Given the description of an element on the screen output the (x, y) to click on. 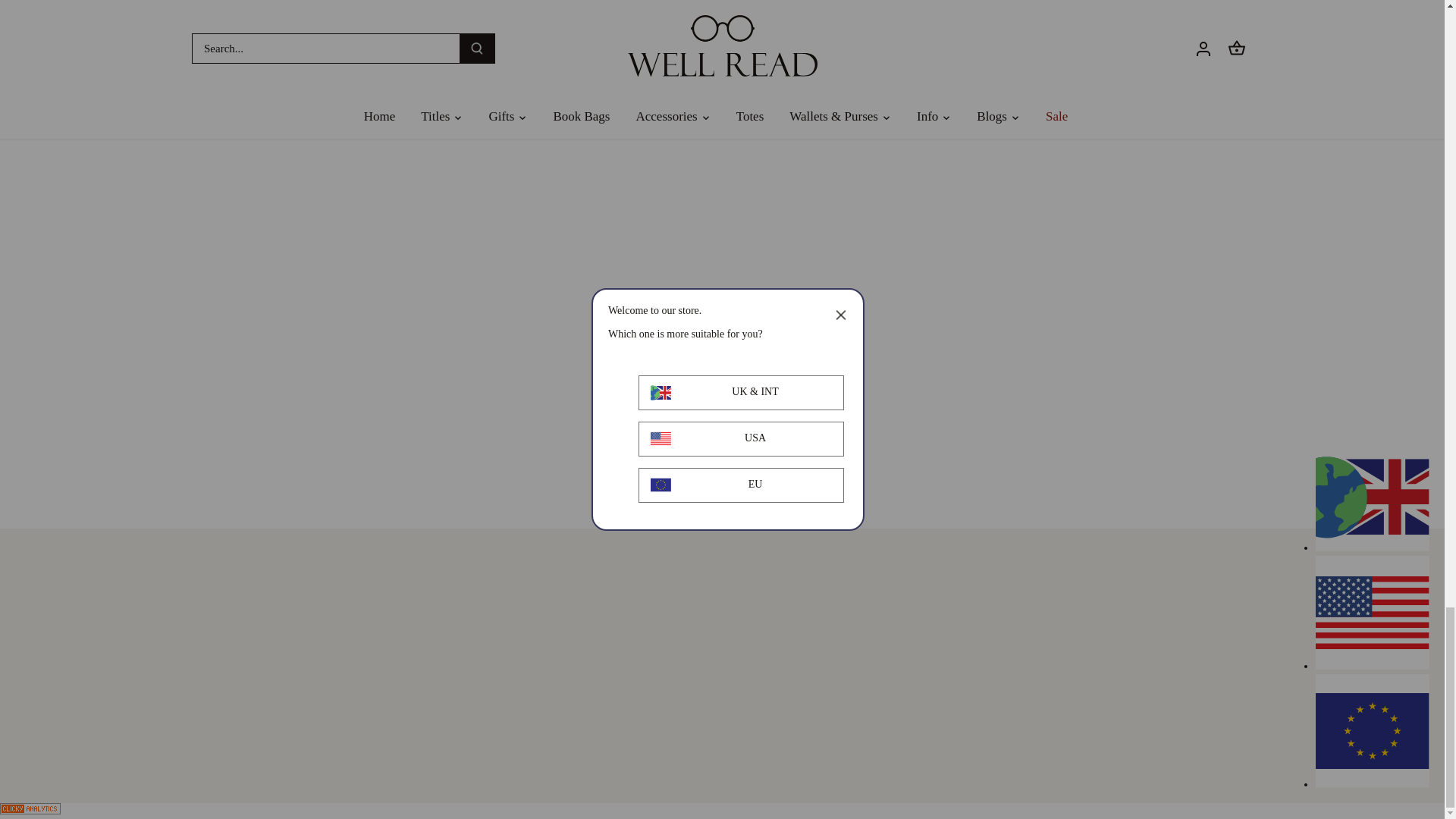
Real Time Web Analytics (30, 810)
